Given the description of an element on the screen output the (x, y) to click on. 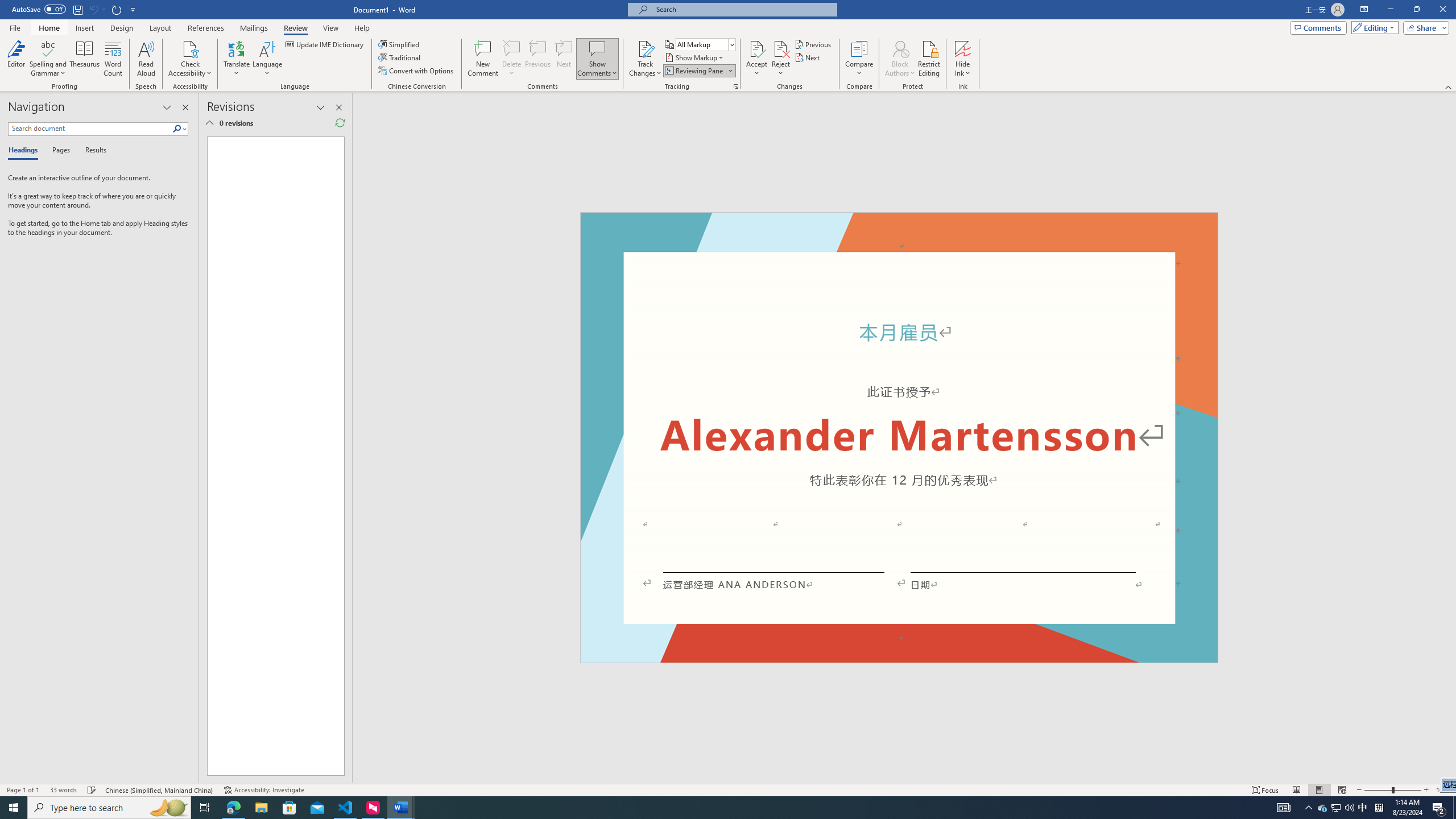
Pages (59, 150)
Results (91, 150)
Accept (756, 58)
Reviewing Pane (698, 69)
Can't Undo (92, 9)
Translate (236, 58)
